Given the description of an element on the screen output the (x, y) to click on. 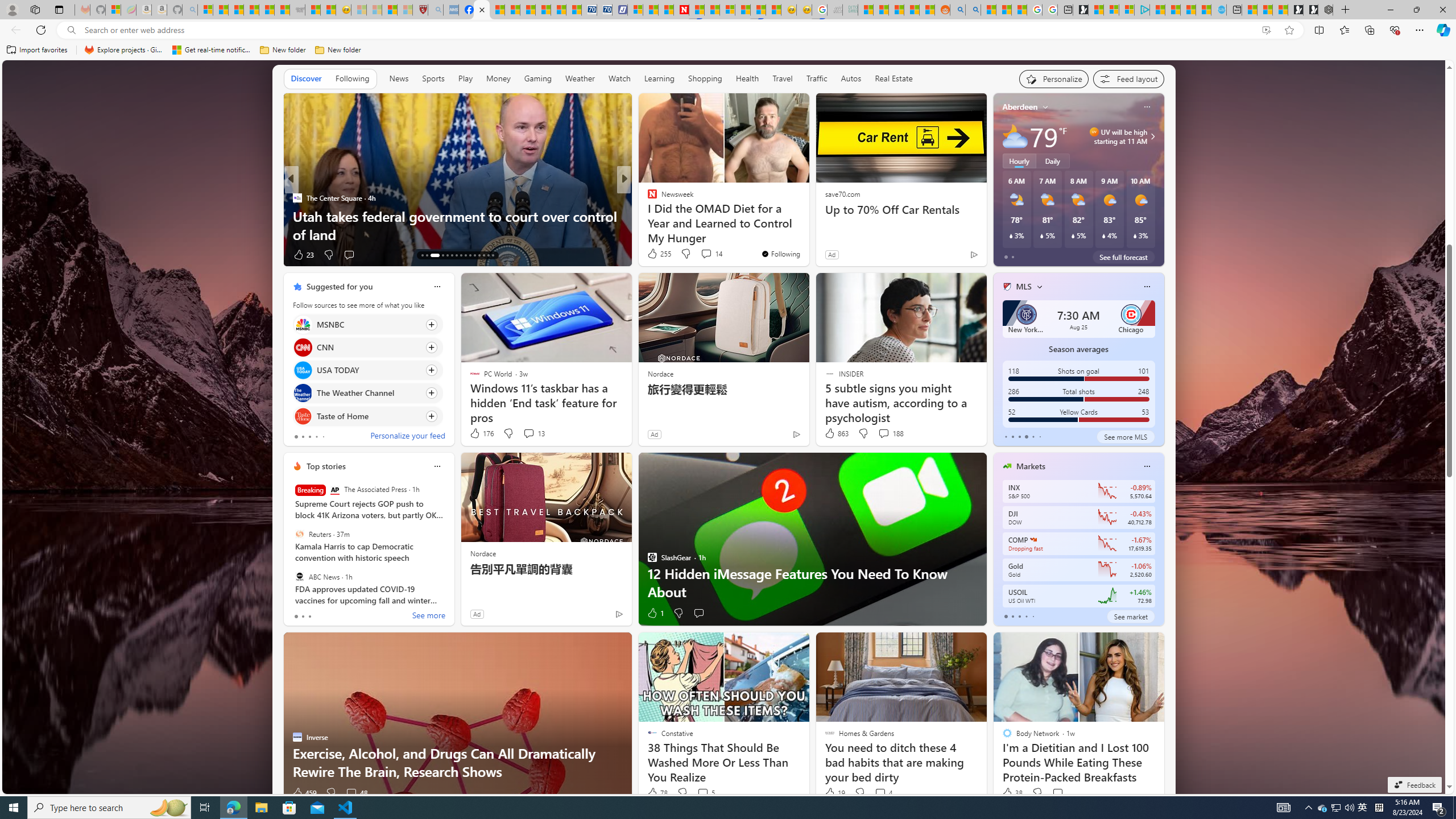
AutomationID: tab-70 (446, 255)
AutomationID: tab-74 (465, 255)
View comments 14 Comment (705, 253)
save70.com (842, 193)
Metro (647, 197)
Top stories (325, 466)
See full forecast (1123, 256)
Constative (647, 197)
